Given the description of an element on the screen output the (x, y) to click on. 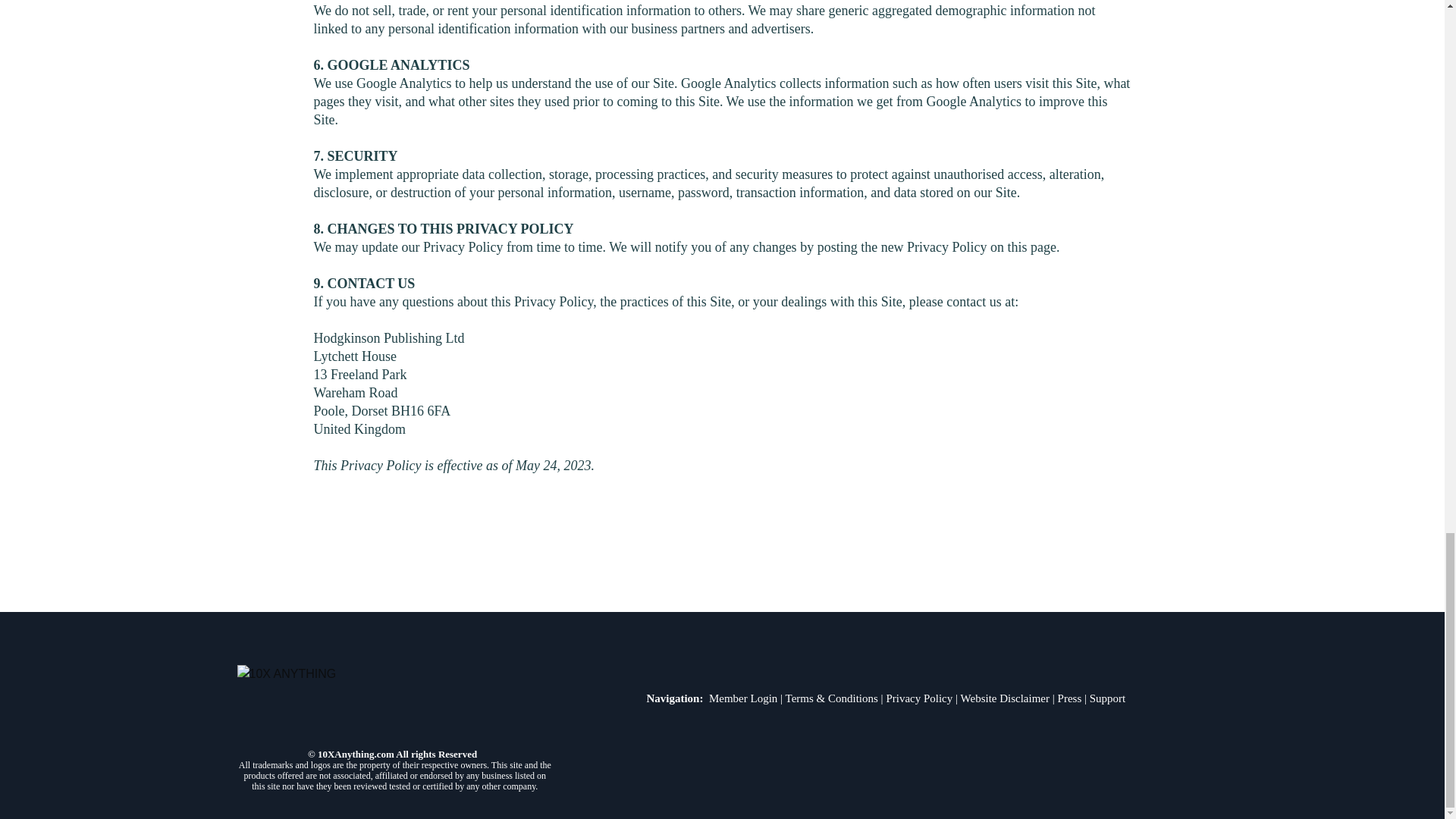
Privacy Policy (918, 698)
Support (1107, 698)
Member Login (743, 698)
10X ANYTHING (394, 701)
Website Disclaimer (1004, 698)
Press (1069, 698)
